Given the description of an element on the screen output the (x, y) to click on. 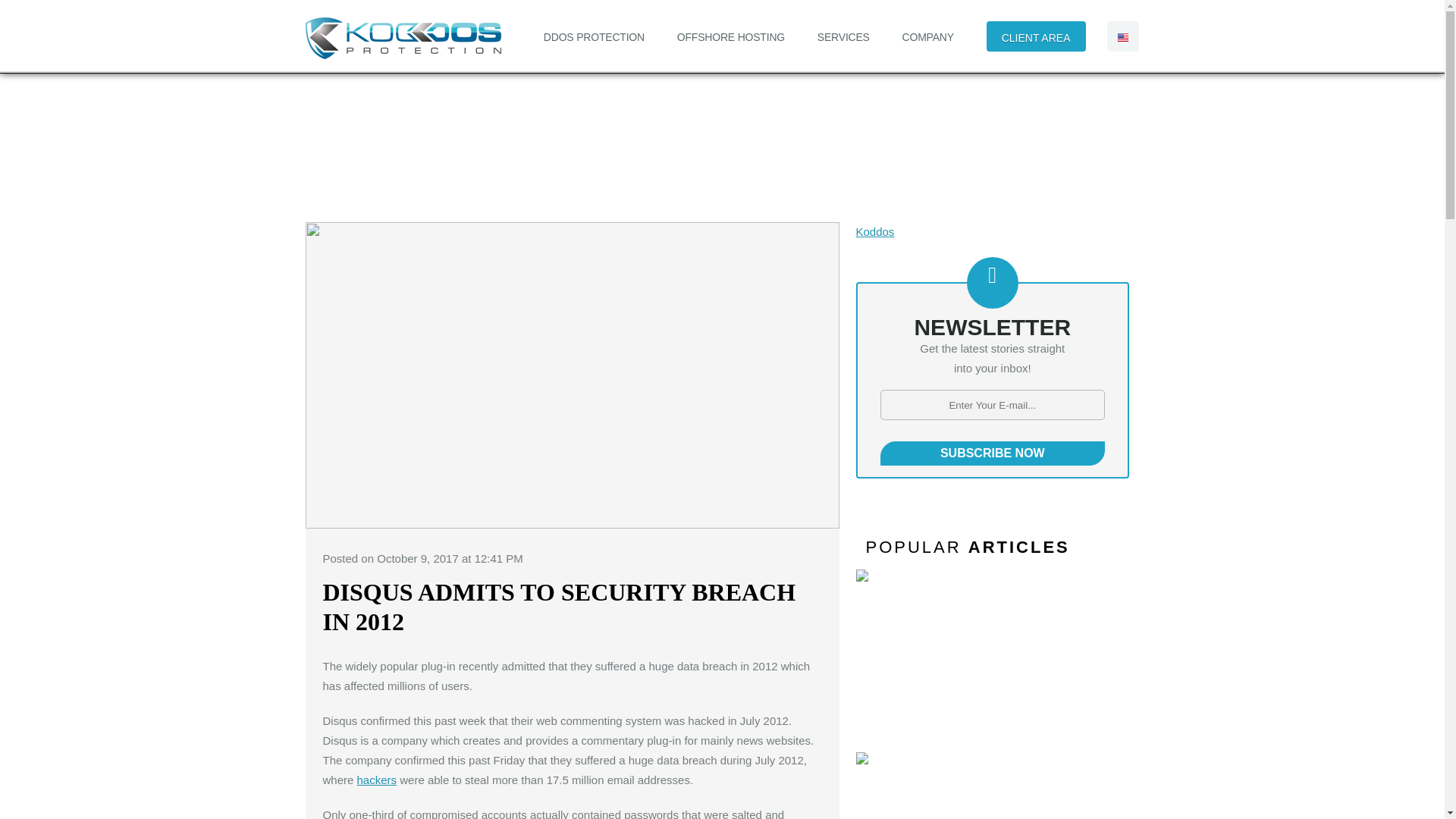
DISQUS ADMITS TO SECURITY BREACH IN 2012 (559, 606)
Subscribe Now (992, 453)
CLIENT AREA (1036, 36)
